Given the description of an element on the screen output the (x, y) to click on. 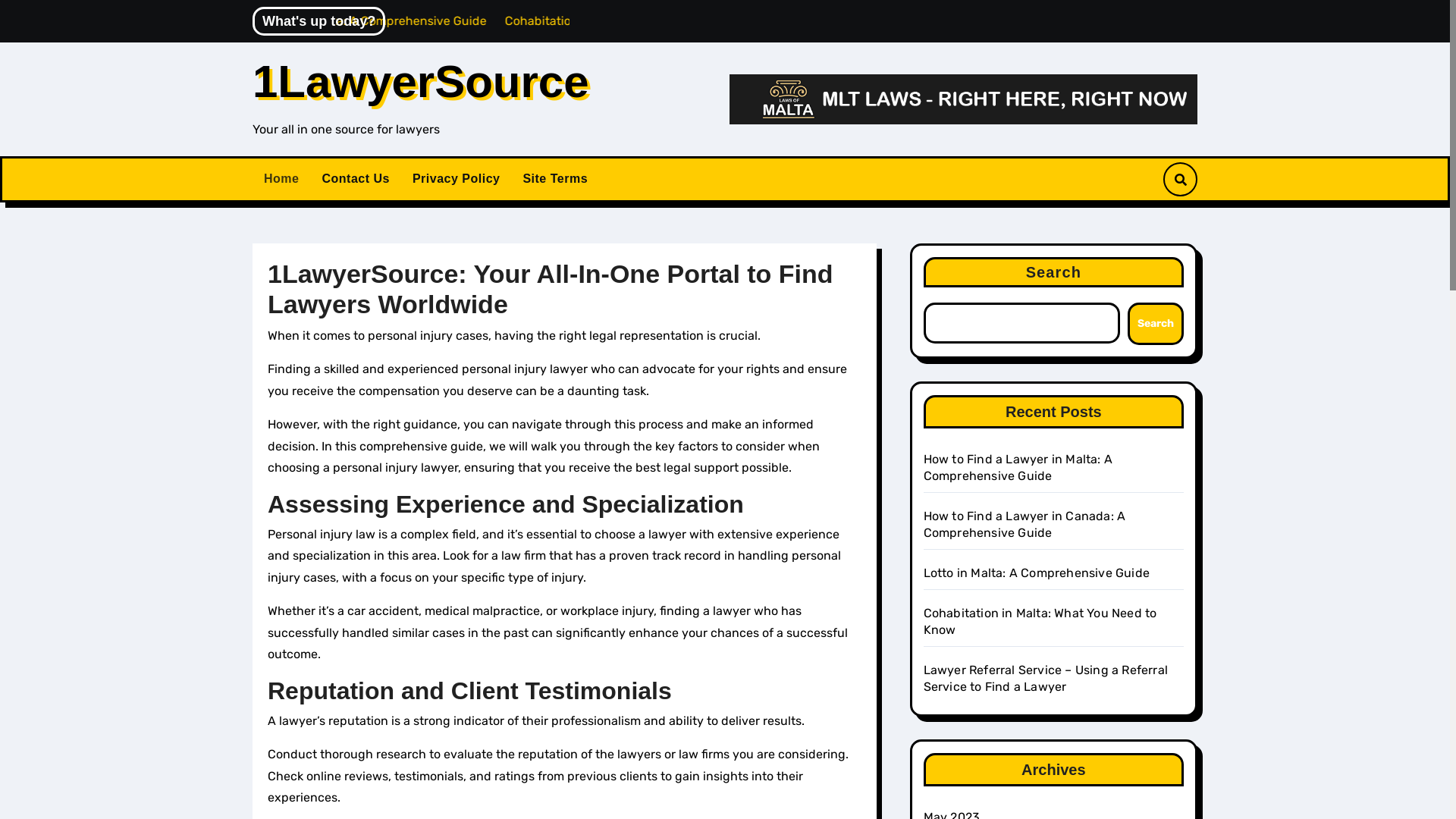
Home Element type: text (281, 178)
Privacy Policy Element type: text (456, 178)
How to Find a Lawyer in Malta: A Comprehensive Guide Element type: text (1017, 467)
Search Element type: text (1155, 323)
How to Find a Lawyer in Canada: A Comprehensive Guide Element type: text (1024, 523)
Site Terms Element type: text (555, 178)
Lotto in Malta: A Comprehensive Guide Element type: text (1036, 572)
Contact Us Element type: text (355, 178)
1LawyerSource Element type: text (420, 81)
Lotto in Malta: A Comprehensive Guide Element type: text (450, 20)
Cohabitation in Malta: What You Need to Know Element type: text (1040, 621)
